Given the description of an element on the screen output the (x, y) to click on. 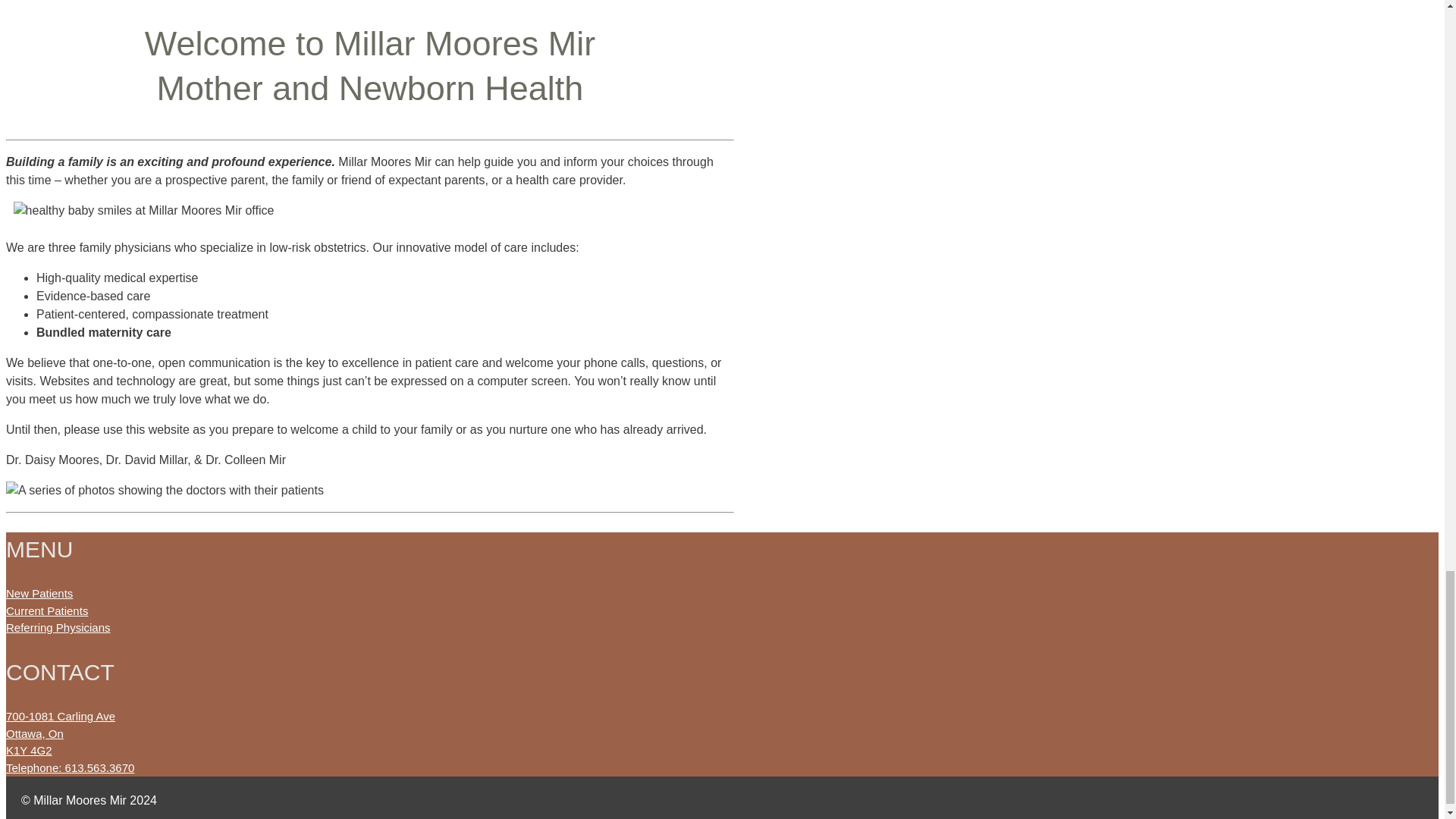
Telephone: 613.563.3670 (69, 767)
Current Patients (46, 610)
Call us at 613.563.3670 (69, 767)
700-1081 Carling Ave (60, 716)
K1Y 4G2 (28, 749)
Ottawa, On (34, 733)
New Patients (38, 593)
Referring Physicians (57, 626)
